Given the description of an element on the screen output the (x, y) to click on. 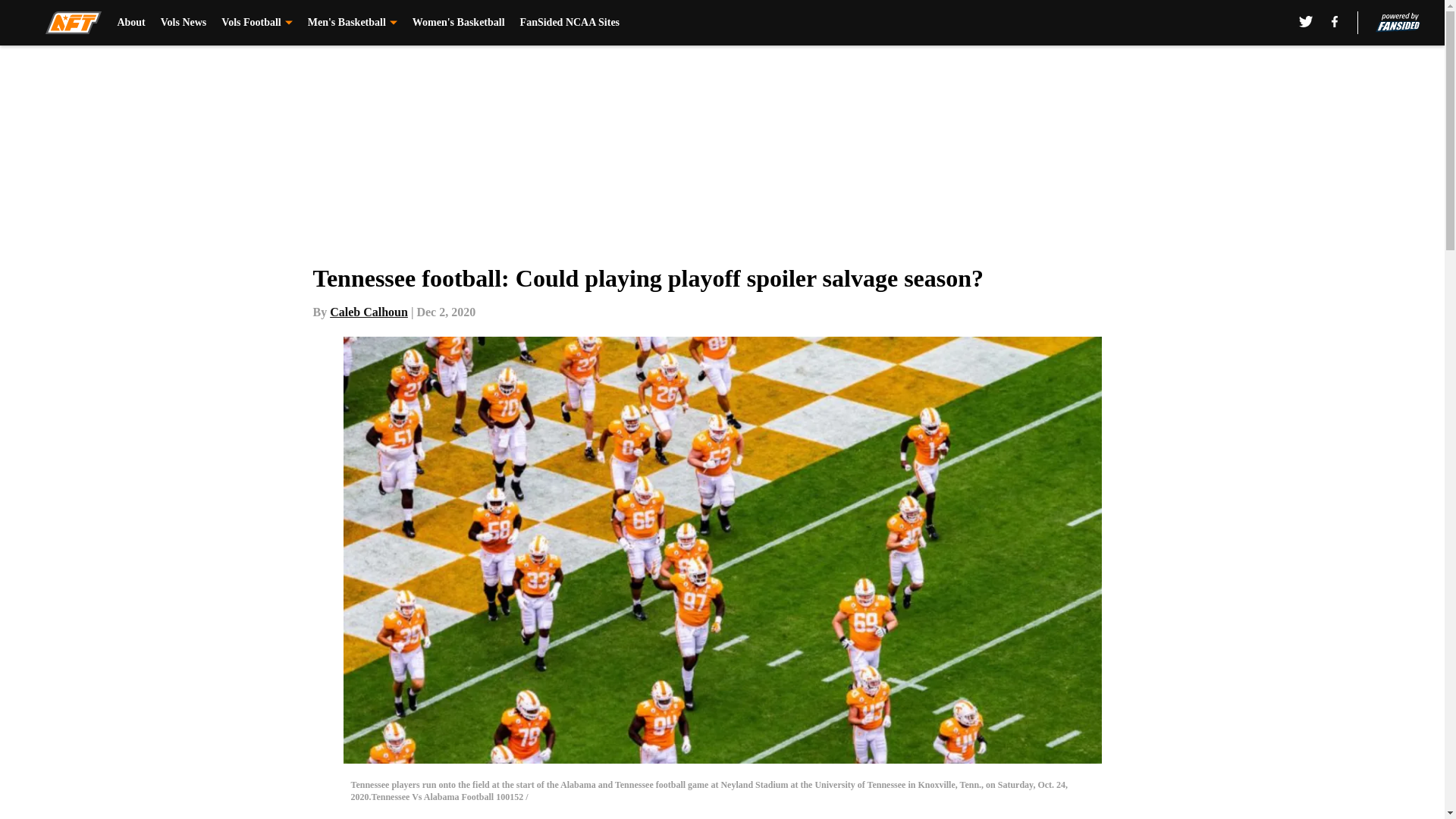
Women's Basketball (458, 22)
Caleb Calhoun (368, 311)
FanSided NCAA Sites (569, 22)
Vols News (183, 22)
About (130, 22)
